Given the description of an element on the screen output the (x, y) to click on. 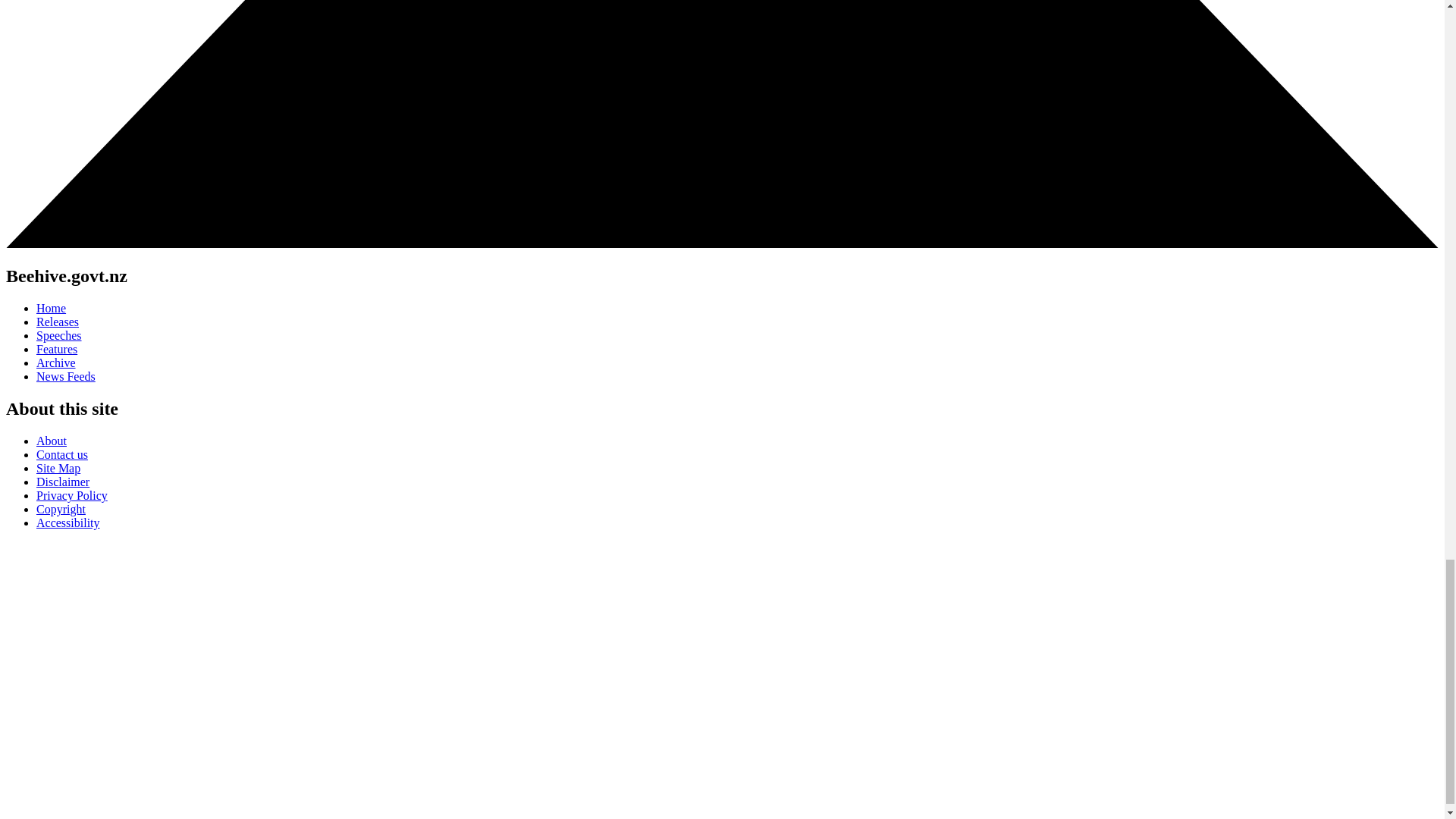
Speeches (58, 335)
Features (56, 349)
Copyright (60, 508)
Accessibility (68, 522)
Home (50, 308)
Site Map (58, 468)
Disclaimer (62, 481)
Releases (57, 321)
About (51, 440)
Contact us (61, 454)
News Feeds (66, 376)
Privacy Policy (71, 495)
Archive (55, 362)
